Given the description of an element on the screen output the (x, y) to click on. 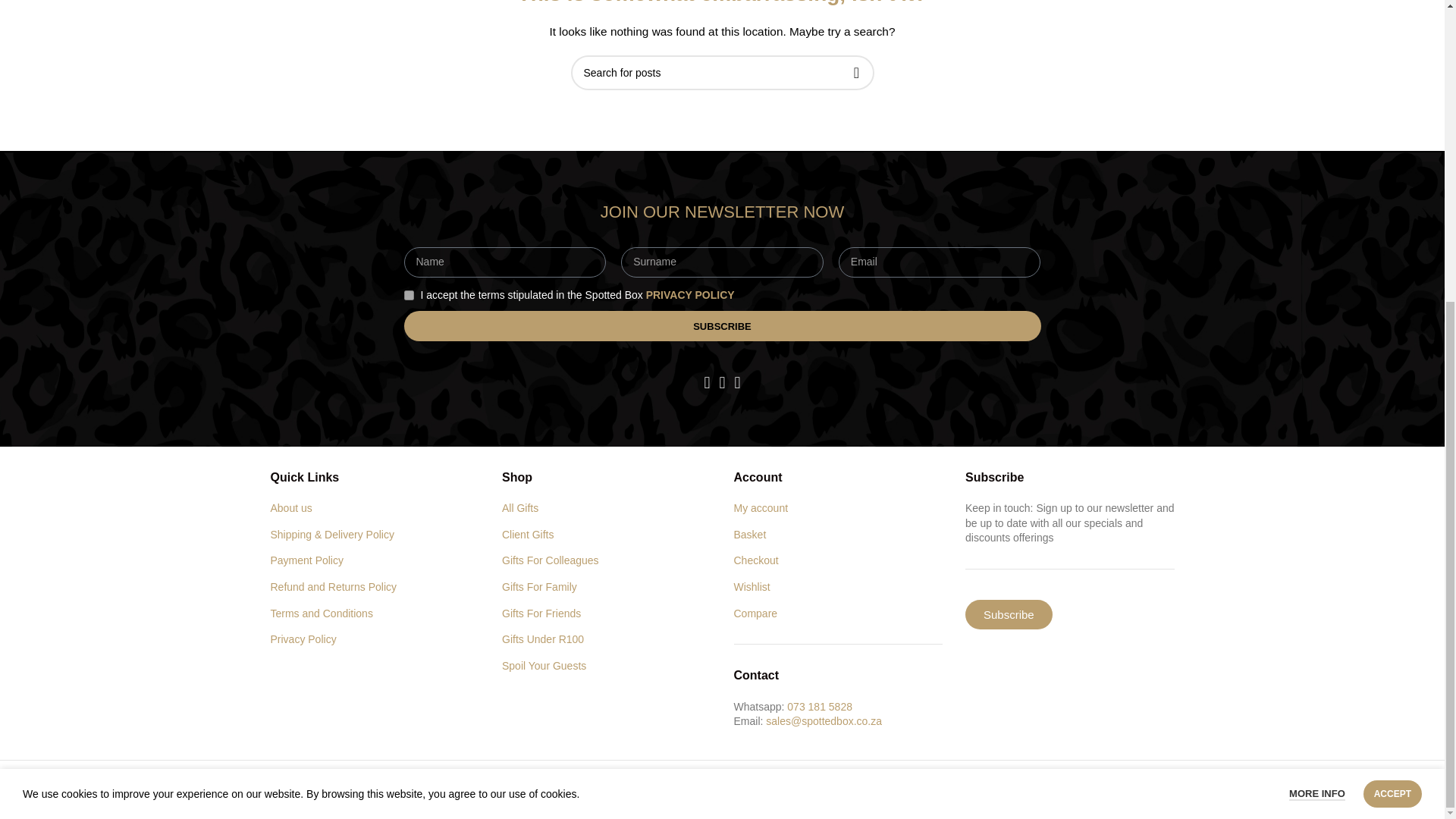
on (408, 295)
